Given the description of an element on the screen output the (x, y) to click on. 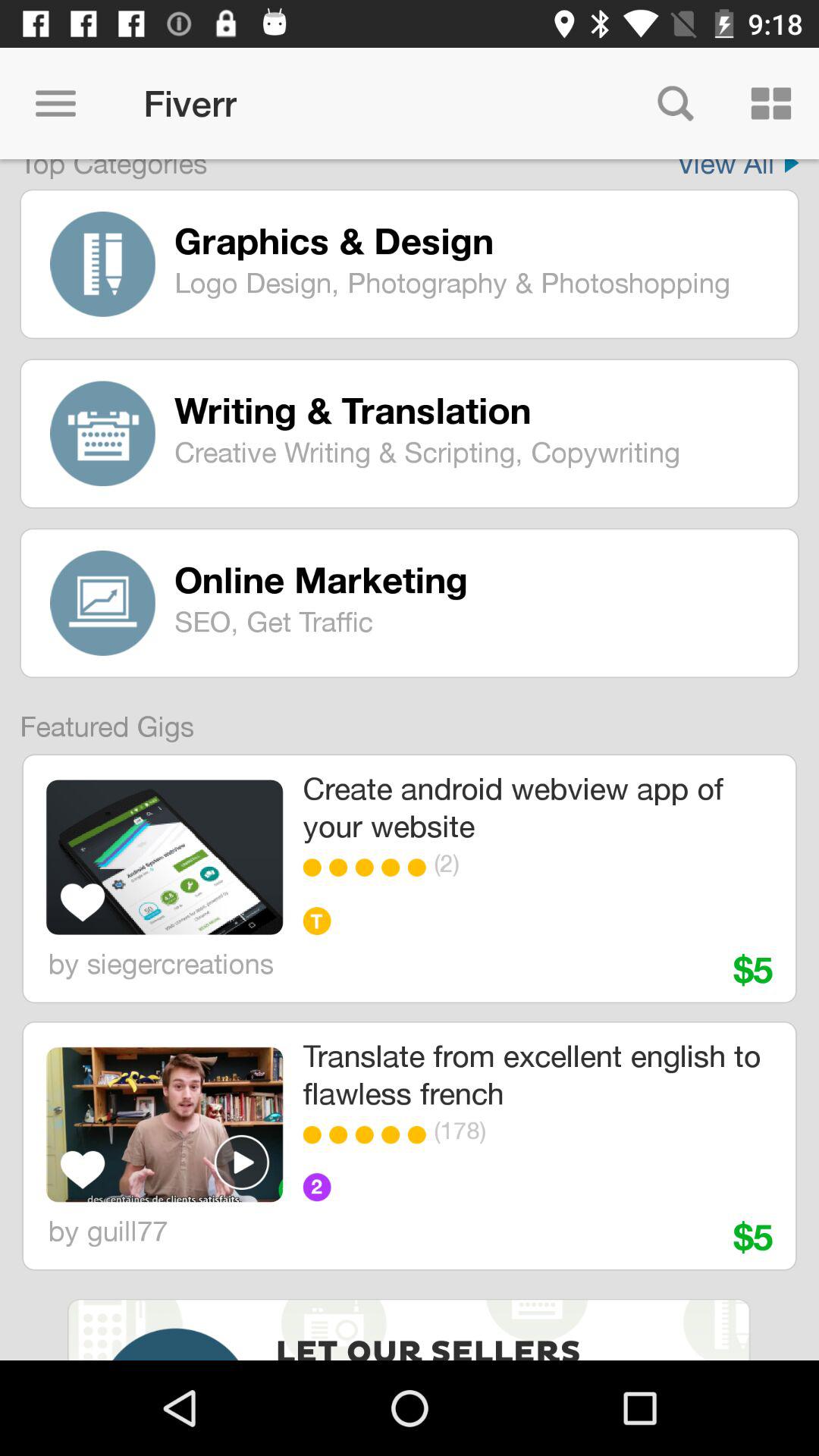
select the item below the translate from excellent icon (579, 1130)
